Given the description of an element on the screen output the (x, y) to click on. 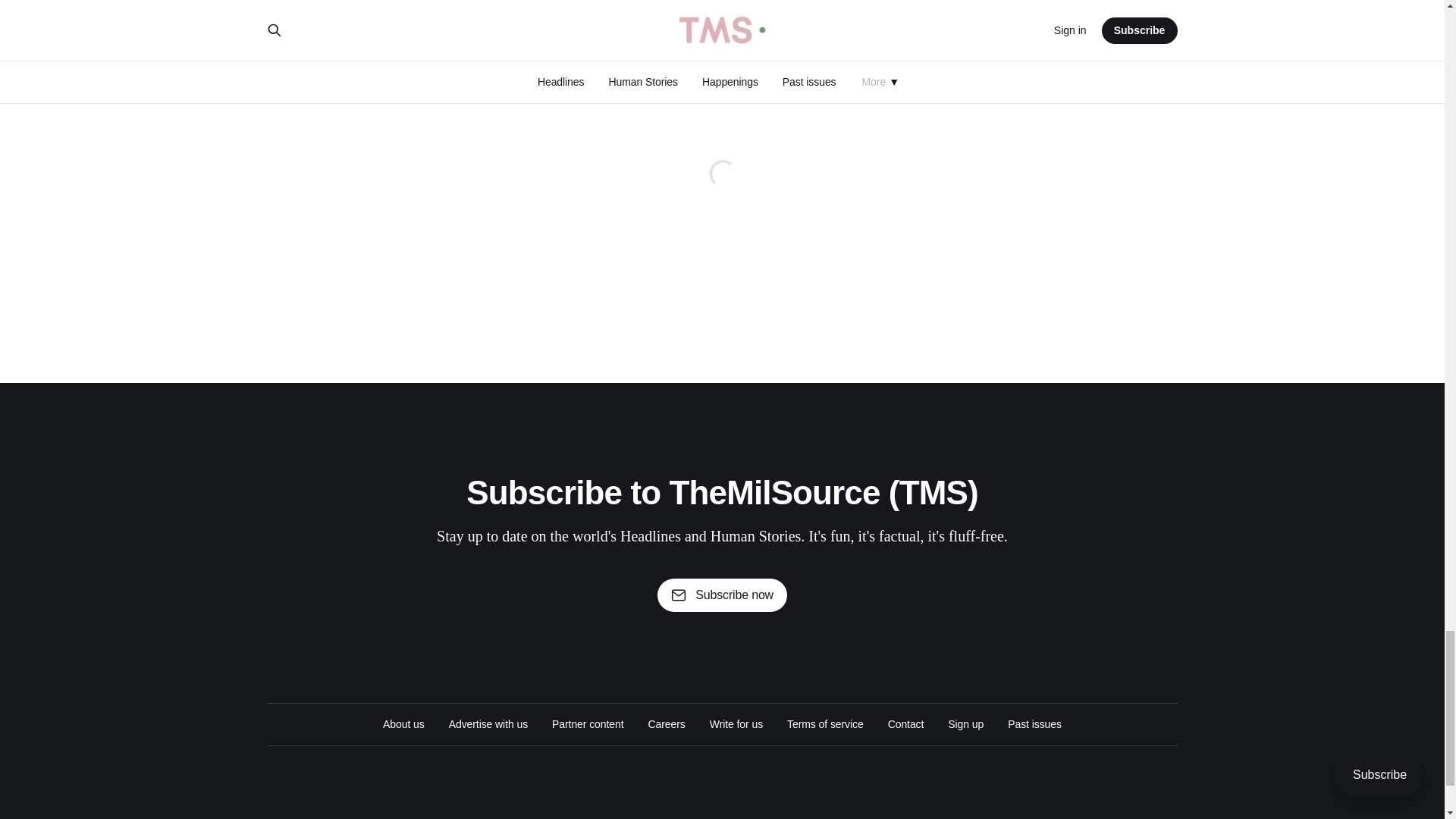
comments-frame (721, 191)
